Given the description of an element on the screen output the (x, y) to click on. 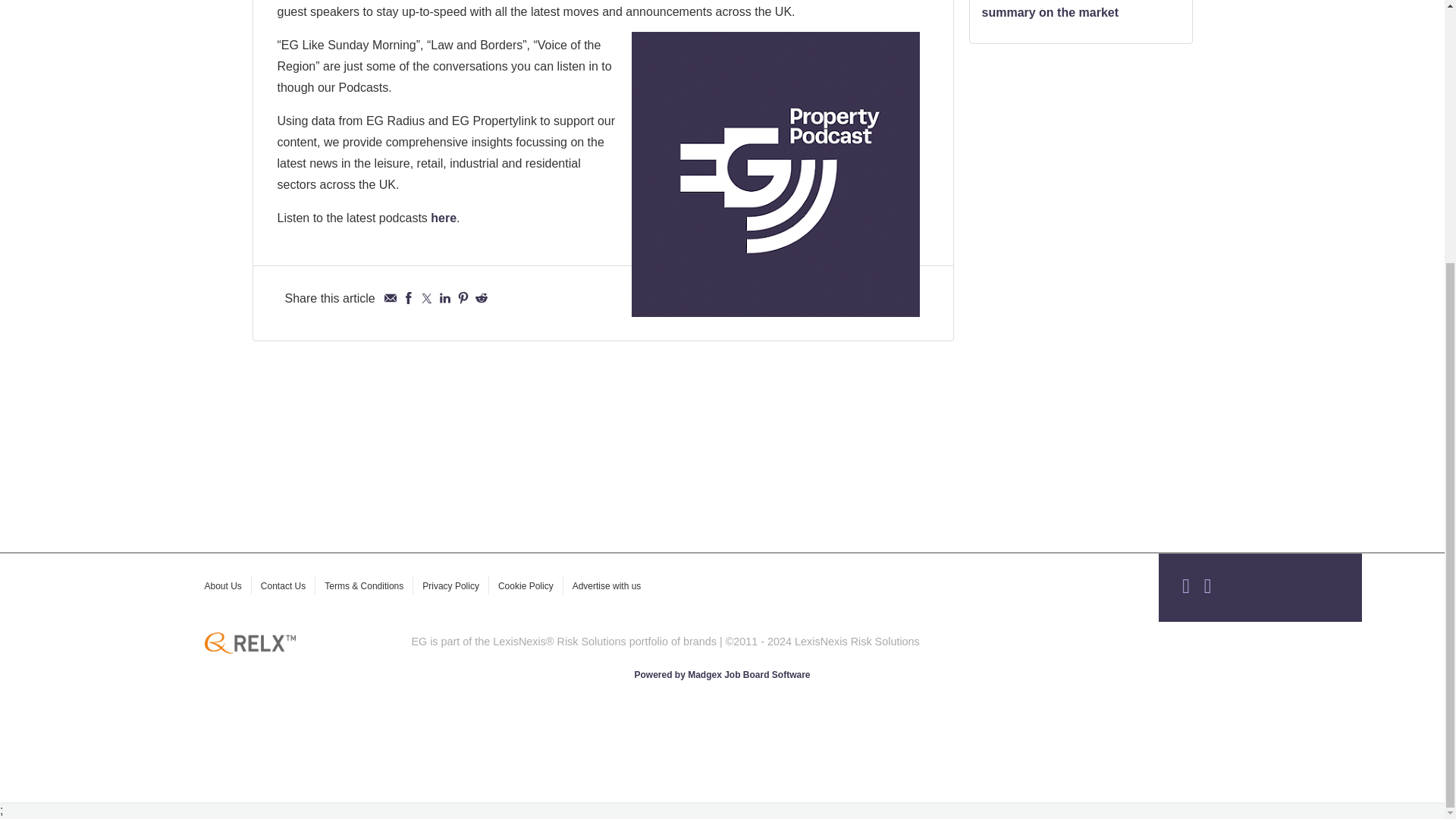
Facebook (408, 297)
here (443, 217)
Get noticed with the best LinkedIn summary on the market (1079, 9)
Cookie Policy (525, 585)
Powered by Madgex Job Board Software (721, 674)
3rd party ad content (1080, 286)
Reddit (481, 297)
Twitter (426, 297)
Contact Us (282, 585)
Advertise with us (607, 585)
Email this (390, 297)
Privacy Policy (450, 585)
About Us (223, 585)
LinkedIn (445, 297)
Pinterest (462, 297)
